Given the description of an element on the screen output the (x, y) to click on. 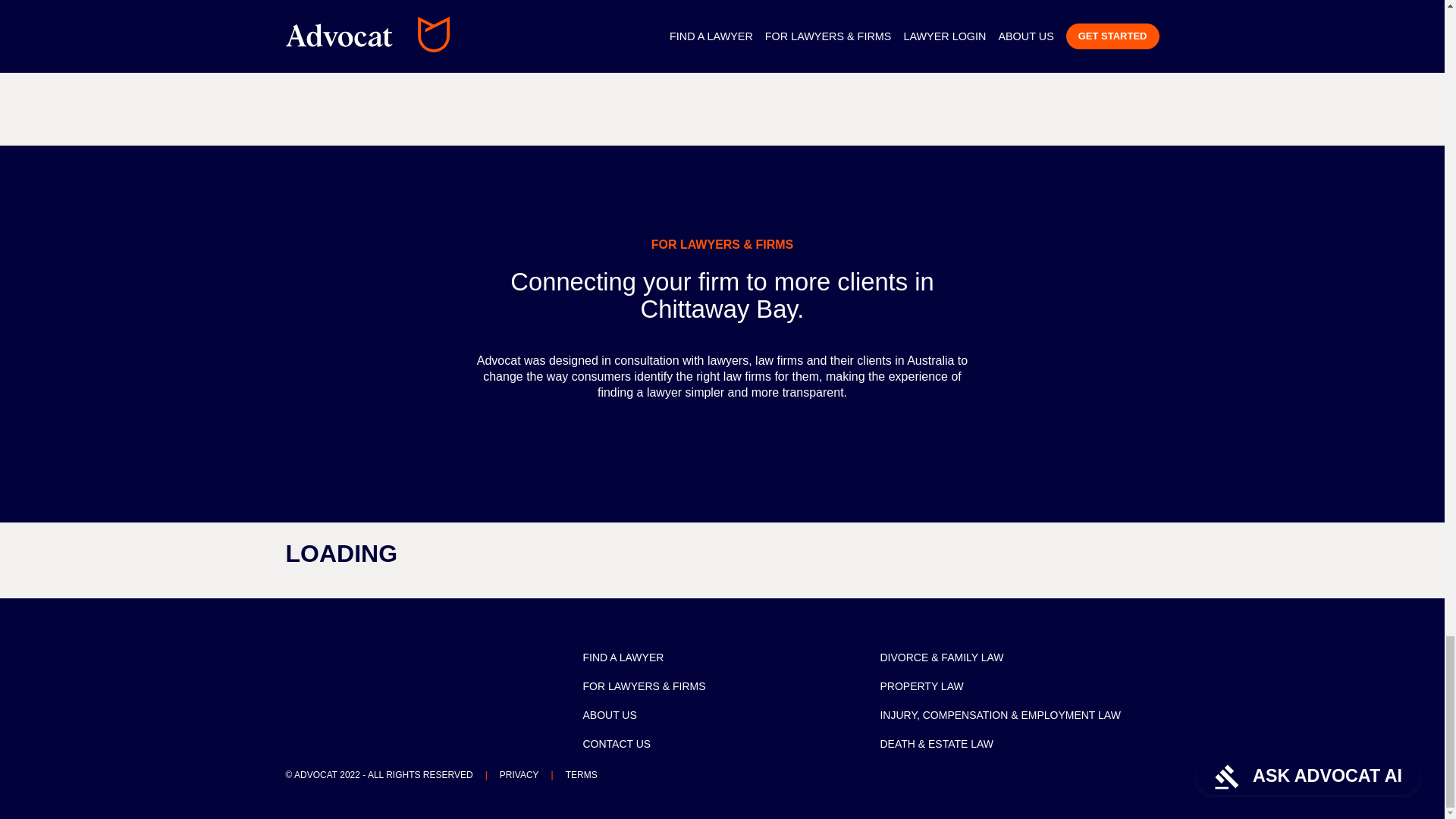
ABOUT US (609, 715)
FIND A LAWYER (833, 25)
FIND A LAWYER (622, 657)
FIND A LAWYER (609, 25)
PRIVACY (518, 774)
FIND A LAWYER (1058, 25)
FIND A LAWYER (385, 25)
CONTACT US (616, 743)
TERMS (581, 774)
PROPERTY LAW (920, 686)
